Given the description of an element on the screen output the (x, y) to click on. 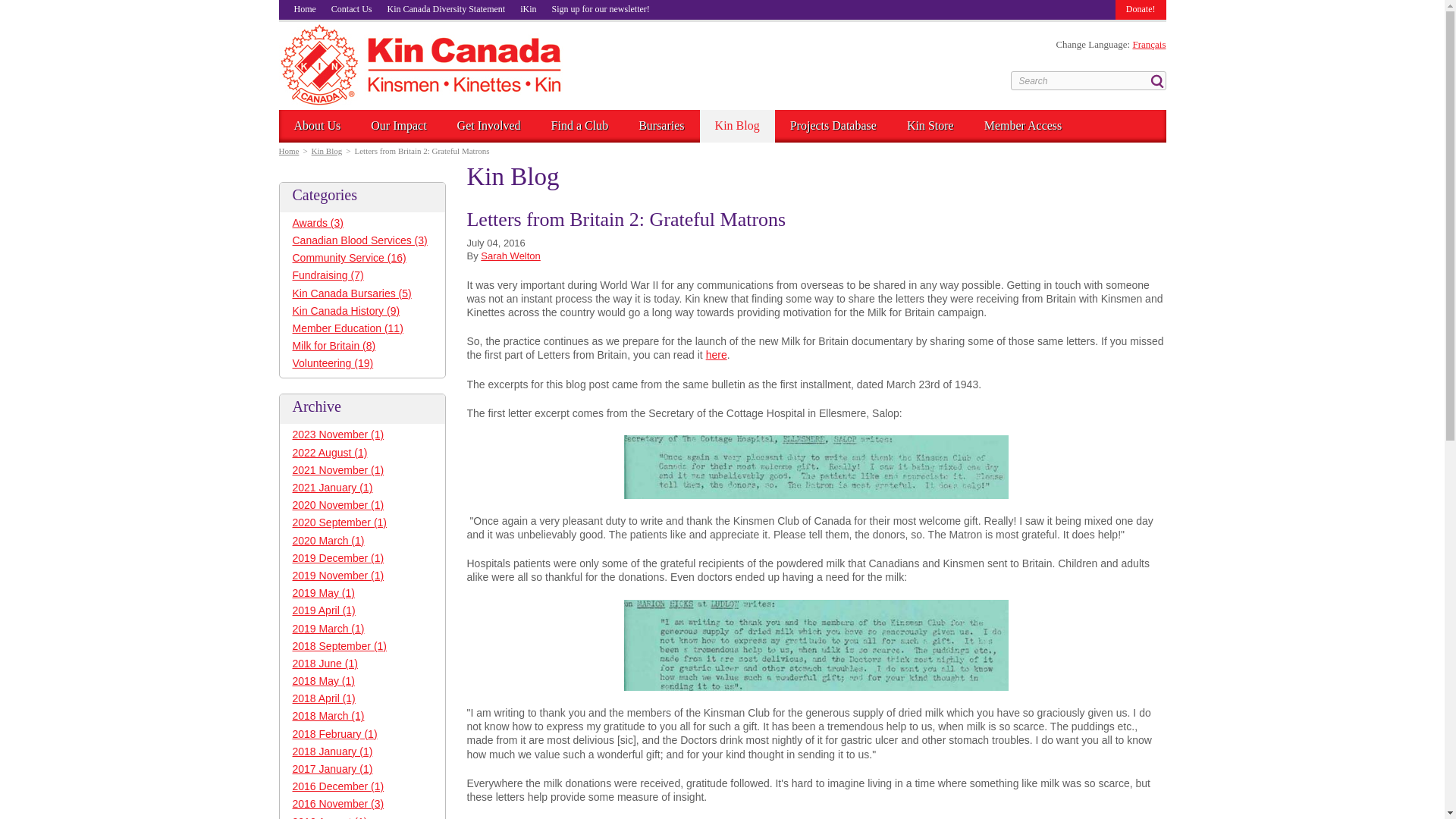
iKin (527, 9)
Kin Canada Diversity Statement (446, 9)
Donate! (1140, 9)
Get Involved (488, 125)
Bursaries (660, 125)
Our Impact (398, 125)
Contact Us (351, 9)
Find a Club (579, 125)
Sign up for our newsletter! (600, 9)
About Us (317, 125)
